Given the description of an element on the screen output the (x, y) to click on. 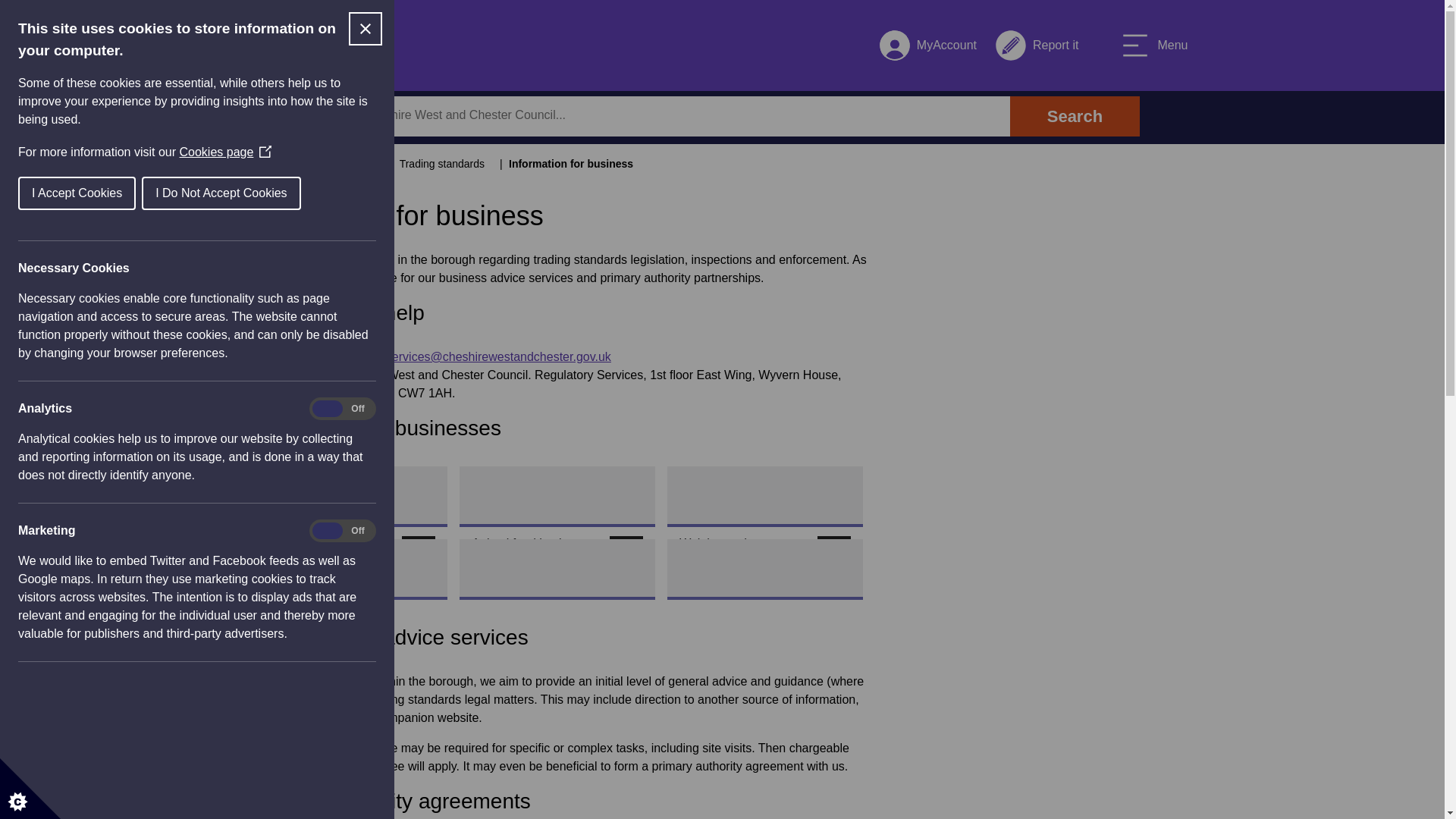
Follow link (833, 552)
Trading standards (441, 163)
Business (344, 163)
I Do Not Accept Cookies (105, 192)
Follow link (418, 552)
Search (927, 45)
Search (657, 115)
Cheshire West and Chester (1036, 45)
Menu (1074, 116)
Weights and measures services (316, 45)
Age restricted products (1153, 45)
Animal feed hygiene and safety (747, 552)
Home (332, 552)
